Given the description of an element on the screen output the (x, y) to click on. 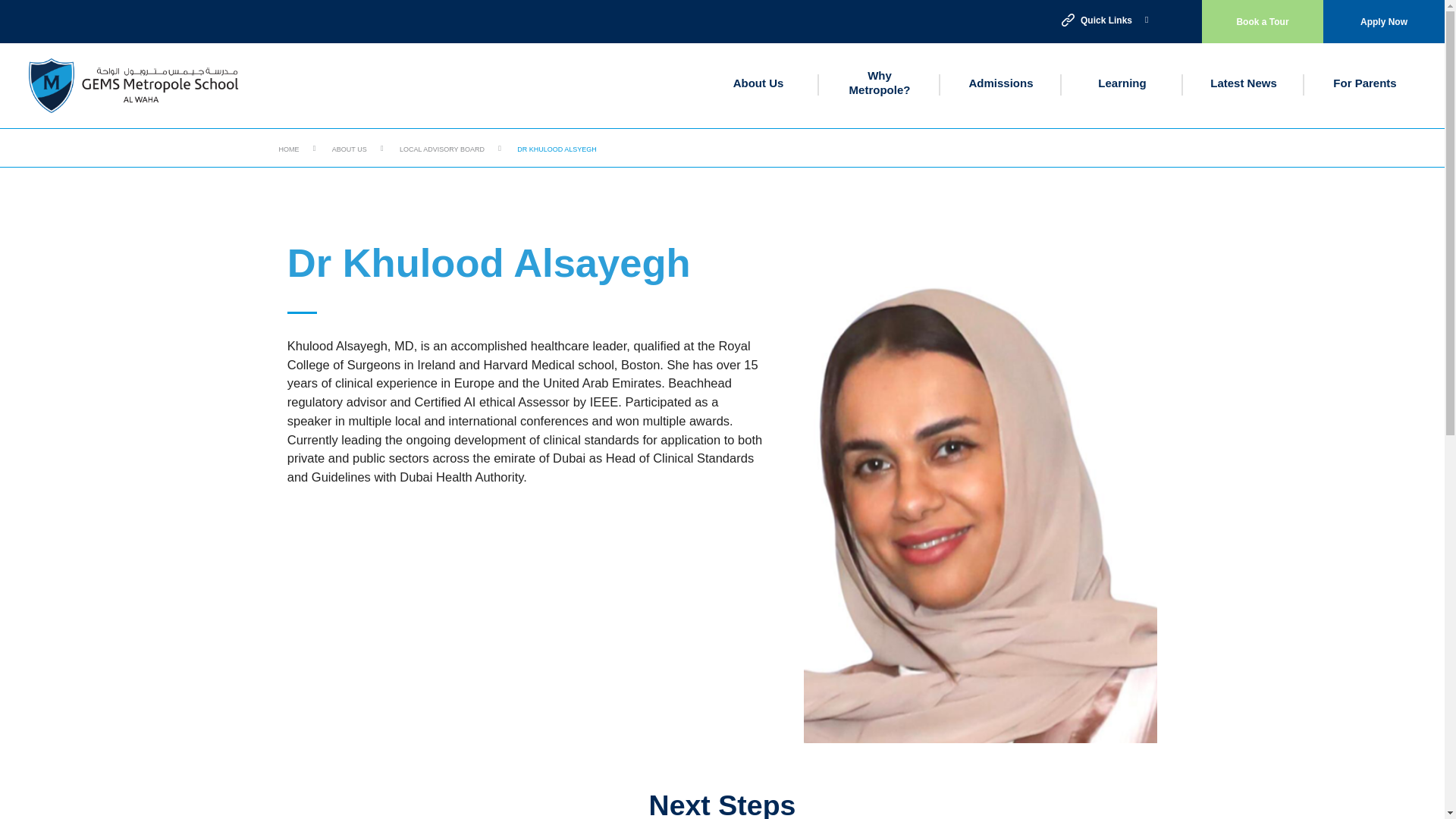
Admissions (1000, 83)
Book a Tour (1262, 21)
Learning (1121, 83)
GEMS Metropole School - Al Waha (138, 85)
About Us (758, 83)
Latest News (1242, 83)
About Us (758, 83)
Why Metropole? (879, 82)
Why Metropole (879, 82)
For Parents (1364, 83)
